Given the description of an element on the screen output the (x, y) to click on. 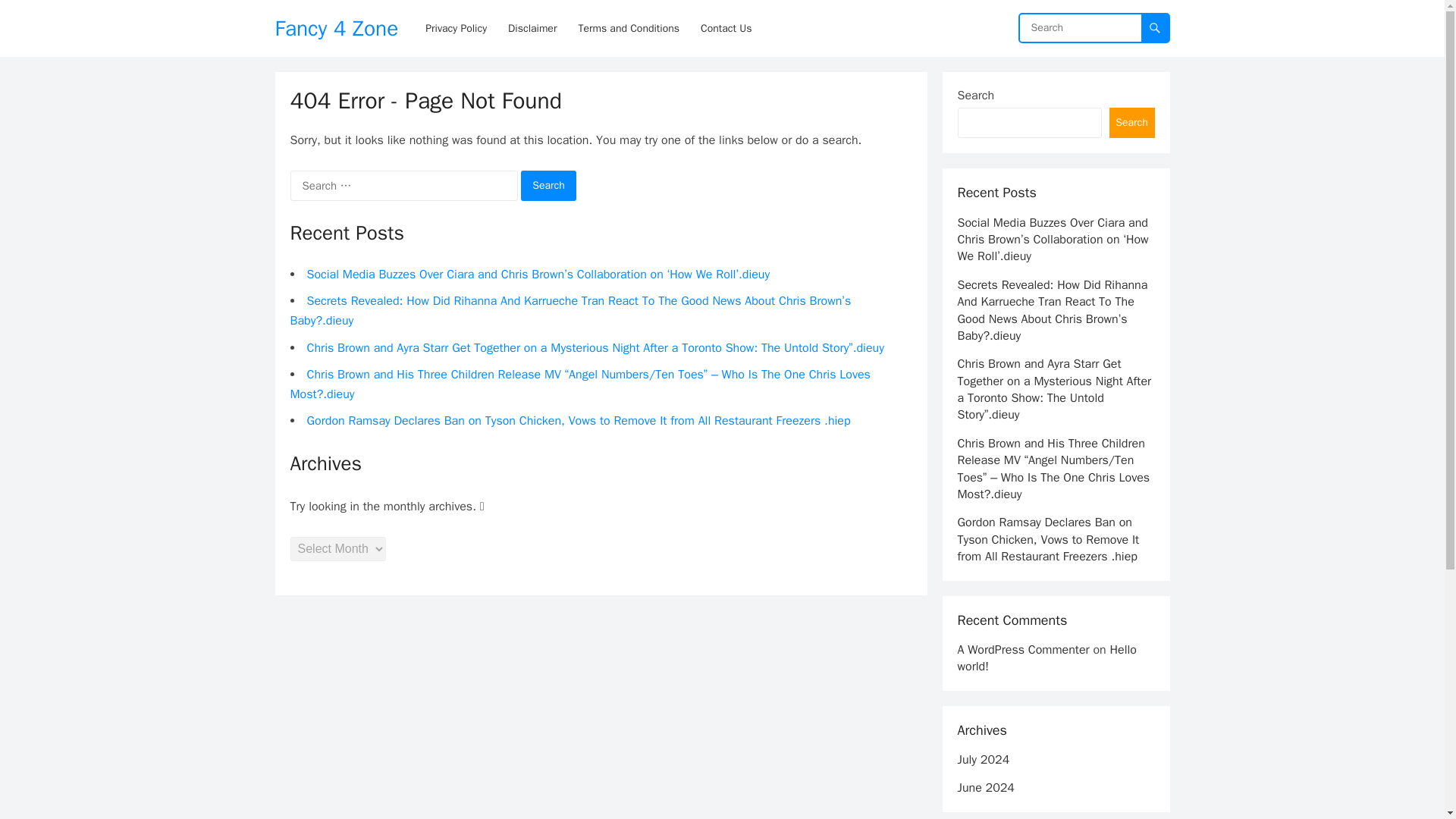
A WordPress Commenter (1022, 649)
Disclaimer (532, 28)
Fancy 4 Zone (336, 28)
Hello world! (1045, 658)
Search (1131, 122)
Terms and Conditions (628, 28)
Search (548, 185)
June 2024 (984, 787)
Search (548, 185)
July 2024 (982, 759)
Contact Us (725, 28)
Search (548, 185)
Privacy Policy (456, 28)
